Given the description of an element on the screen output the (x, y) to click on. 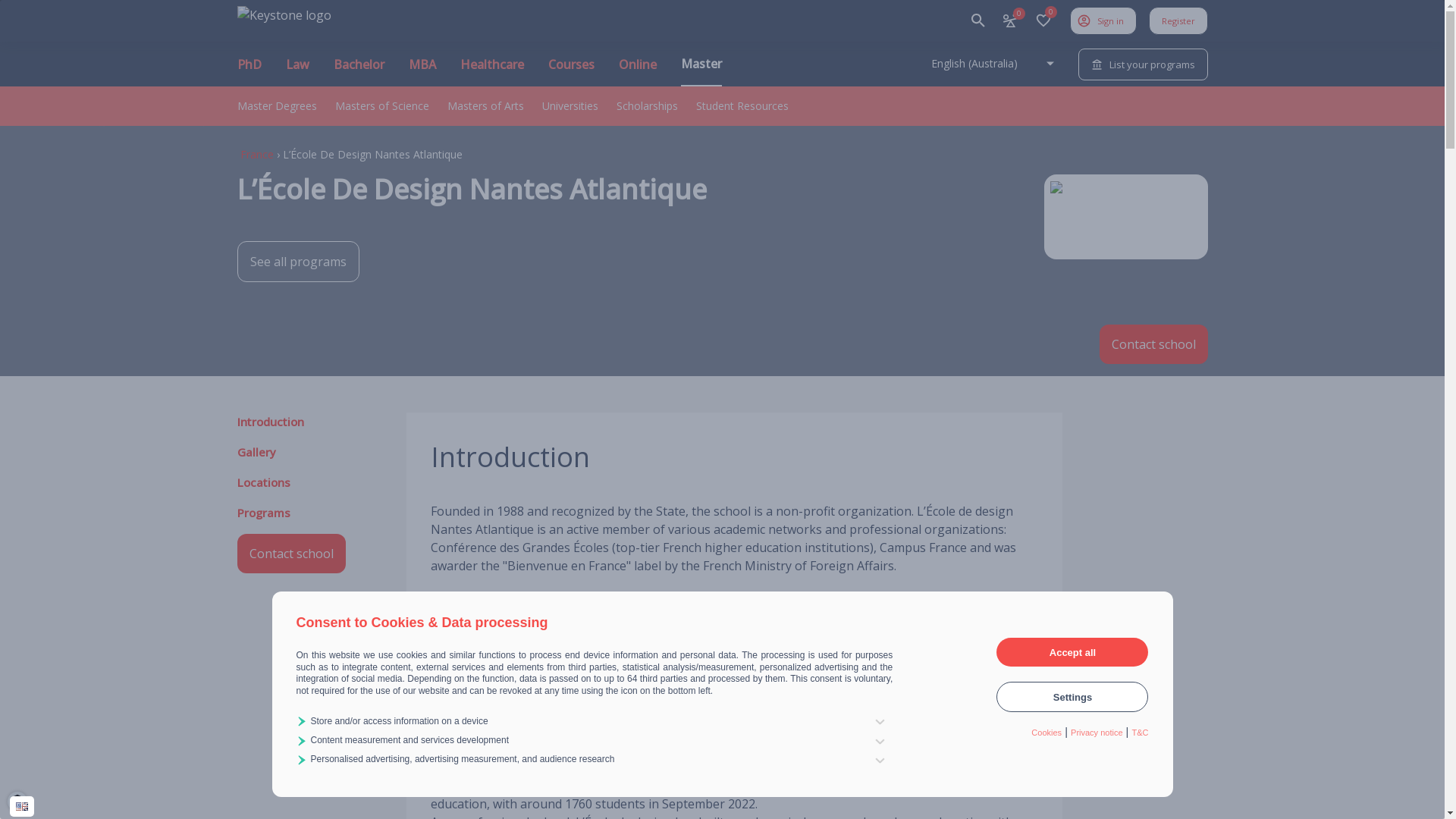
Register Element type: text (1177, 20)
Masters of Arts Element type: text (485, 105)
Master Element type: text (700, 70)
MBA Element type: text (421, 70)
List your programs Element type: text (1143, 64)
Programs Element type: text (262, 512)
See all programs Element type: text (297, 261)
Masters of Science Element type: text (382, 105)
Law Element type: text (296, 70)
0 Element type: text (1009, 20)
Healthcare Element type: text (491, 70)
Online Element type: text (637, 70)
France Element type: text (256, 154)
Contact school Element type: text (1153, 344)
Bachelor Element type: text (358, 70)
Student Resources Element type: text (742, 105)
Introduction Element type: text (269, 421)
Universities Element type: text (569, 105)
Master Degrees Element type: text (276, 105)
Sign in Element type: text (1102, 20)
Contact school Element type: text (290, 553)
0 Element type: text (1042, 20)
Courses Element type: text (570, 70)
Locations Element type: text (262, 481)
PhD Element type: text (248, 70)
Gallery Element type: text (255, 451)
Scholarships Element type: text (646, 105)
